Given the description of an element on the screen output the (x, y) to click on. 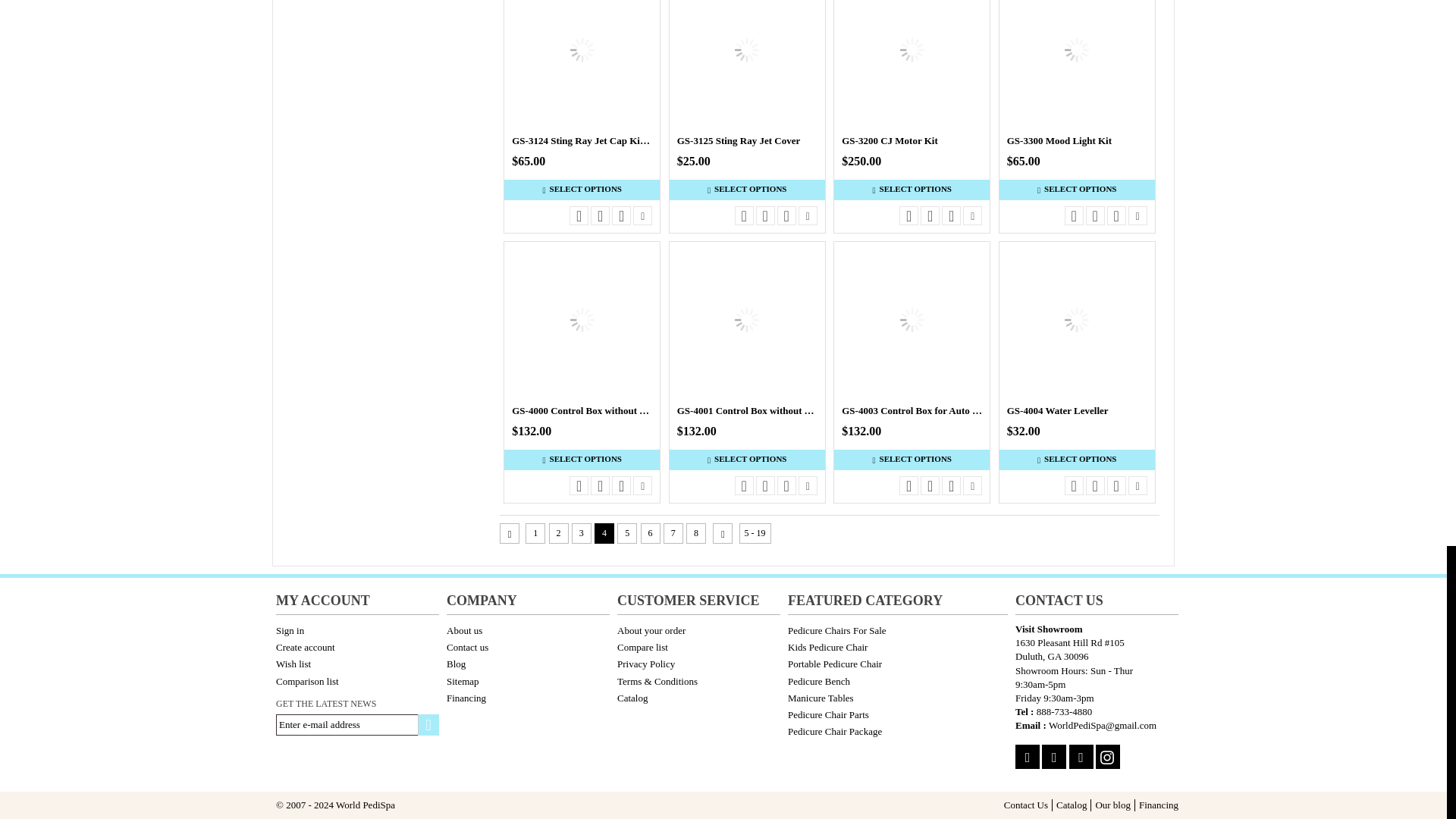
Enter e-mail address (357, 724)
